Given the description of an element on the screen output the (x, y) to click on. 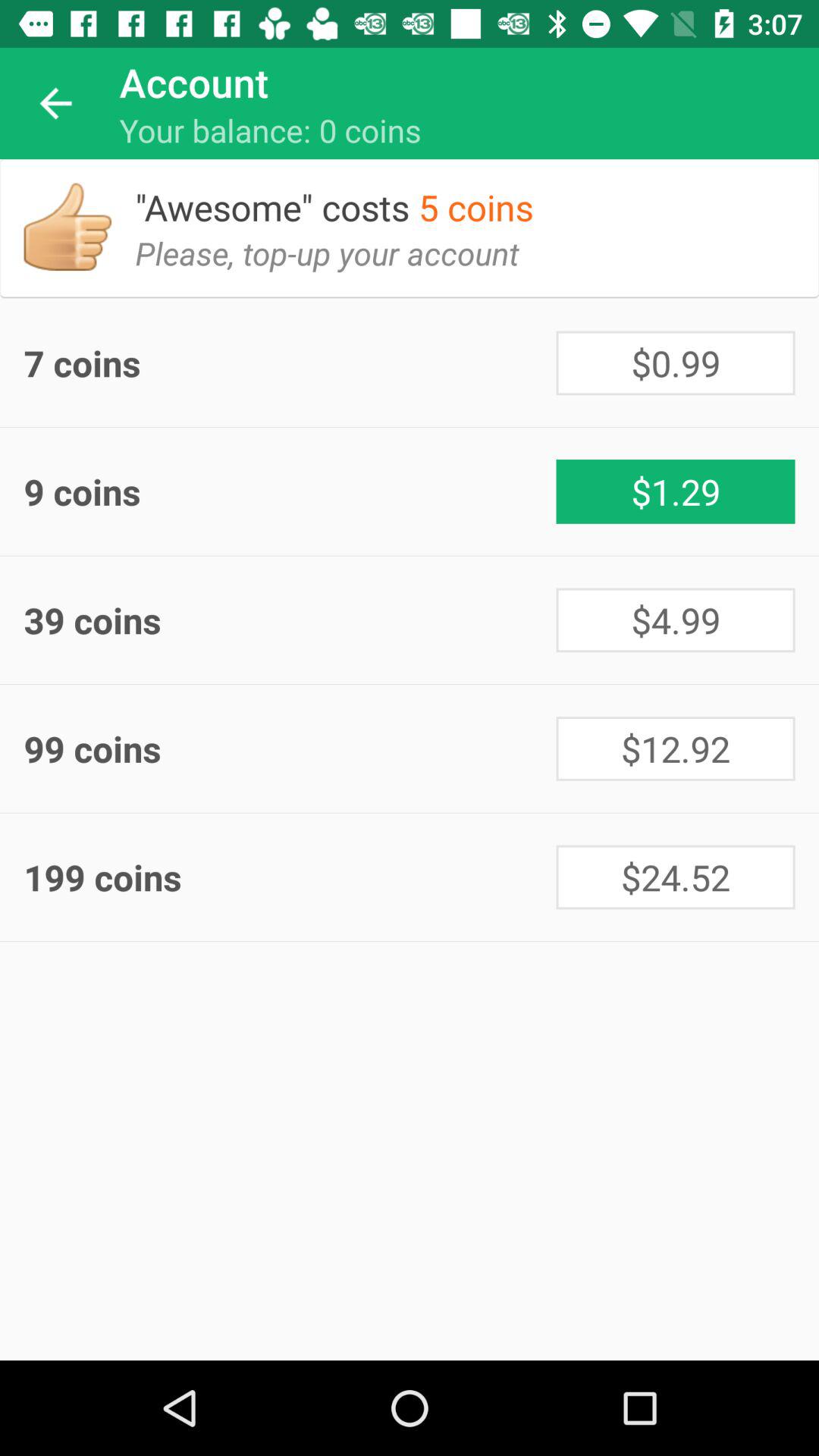
press awesome costs 5 icon (346, 195)
